Given the description of an element on the screen output the (x, y) to click on. 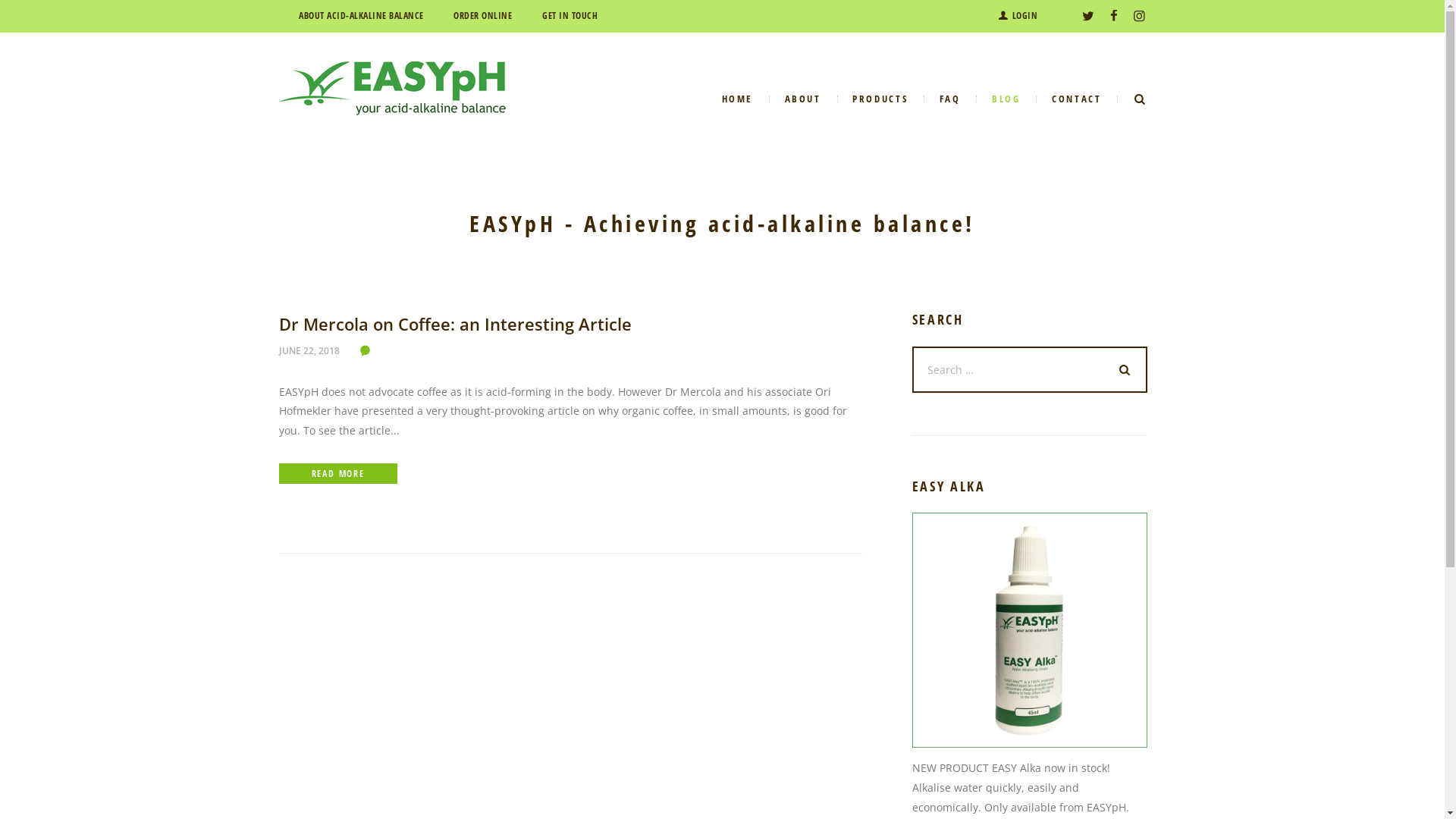
READ MORE Element type: text (338, 473)
FAQ Element type: text (949, 99)
GET IN TOUCH Element type: text (569, 15)
BLOG Element type: text (1005, 99)
Comments - 0 Element type: hover (368, 350)
PRODUCTS Element type: text (880, 99)
HOME Element type: text (737, 99)
LOGIN Element type: text (1017, 16)
CONTACT Element type: text (1076, 99)
Open search Element type: hover (1140, 99)
Search for: Element type: hover (1028, 369)
ORDER ONLINE Element type: text (482, 15)
JUNE 22, 2018 Element type: text (309, 350)
ABOUT ACID-ALKALINE BALANCE Element type: text (360, 15)
ABOUT Element type: text (802, 99)
Dr Mercola on Coffee: an Interesting Article Element type: text (455, 323)
